Given the description of an element on the screen output the (x, y) to click on. 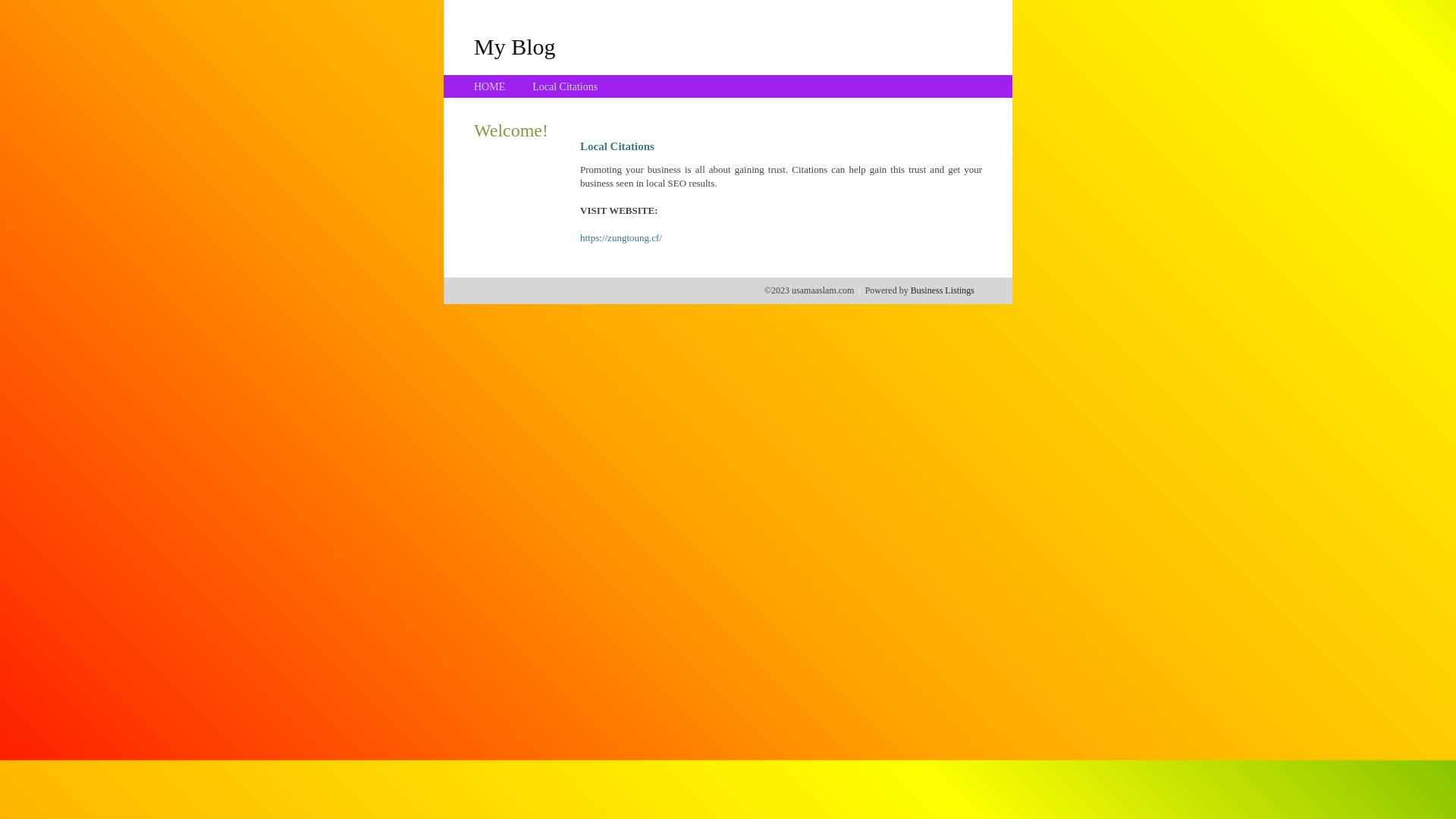
Business Listings Element type: text (942, 290)
HOME Element type: text (489, 86)
https://zungtoung.cf/ Element type: text (621, 237)
Local Citations Element type: text (564, 86)
My Blog Element type: text (514, 46)
